Given the description of an element on the screen output the (x, y) to click on. 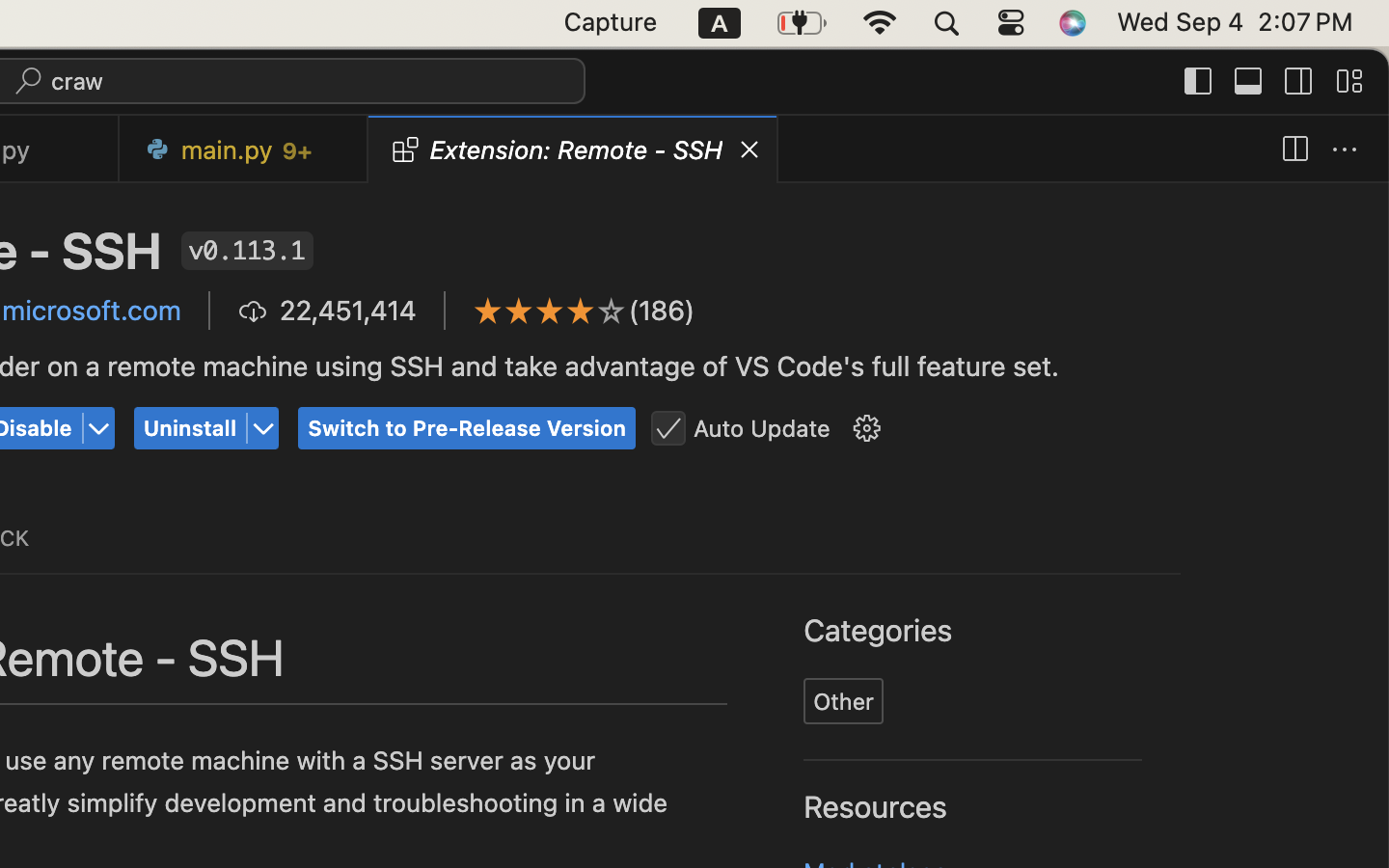
 Element type: AXStaticText (518, 310)
 Element type: AXButton (866, 428)
craw Element type: AXStaticText (78, 80)
 Element type: AXButton (1349, 80)
 Element type: AXCheckBox (1198, 80)
